Given the description of an element on the screen output the (x, y) to click on. 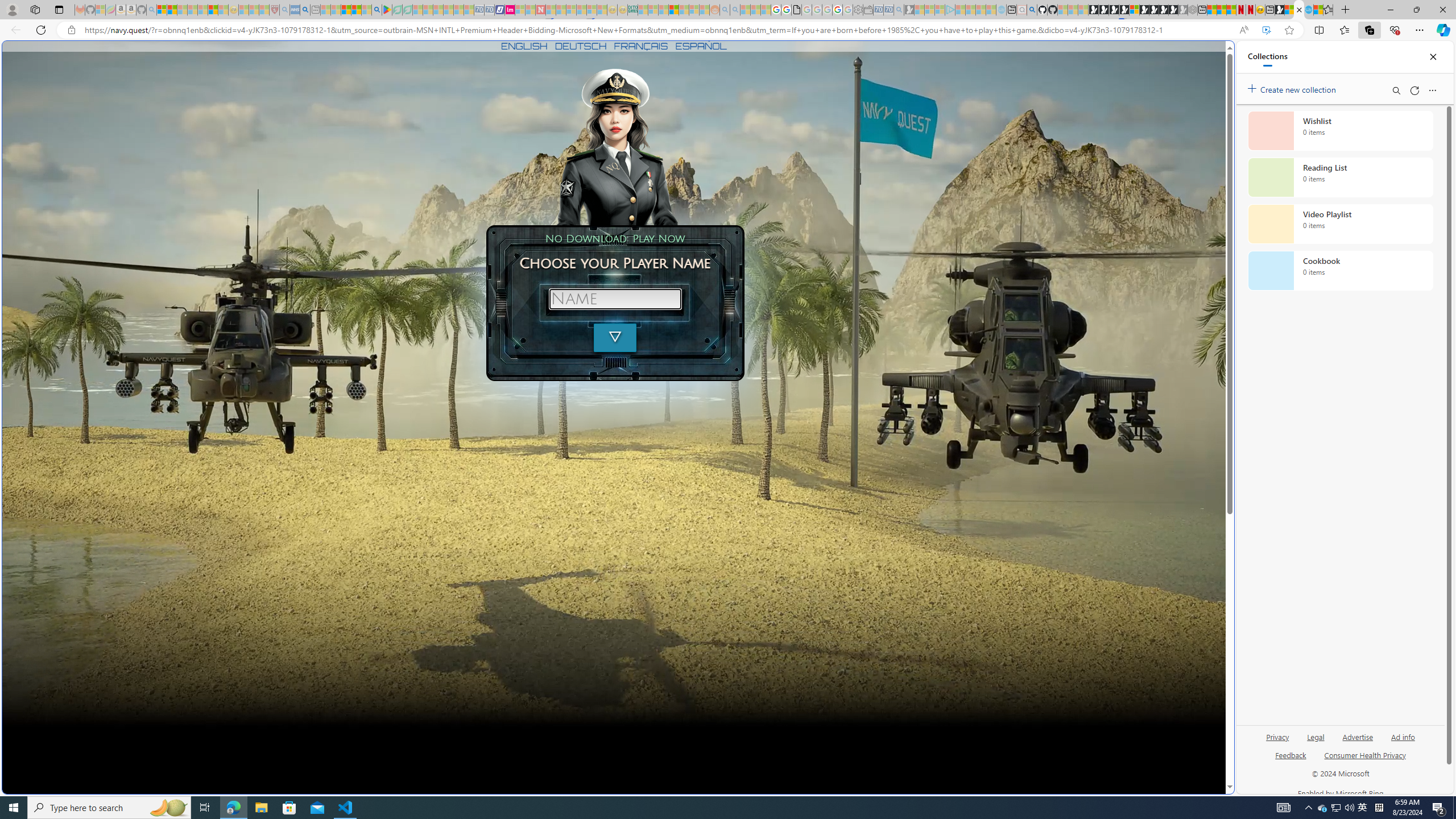
Tabs you've opened (885, 151)
